Given the description of an element on the screen output the (x, y) to click on. 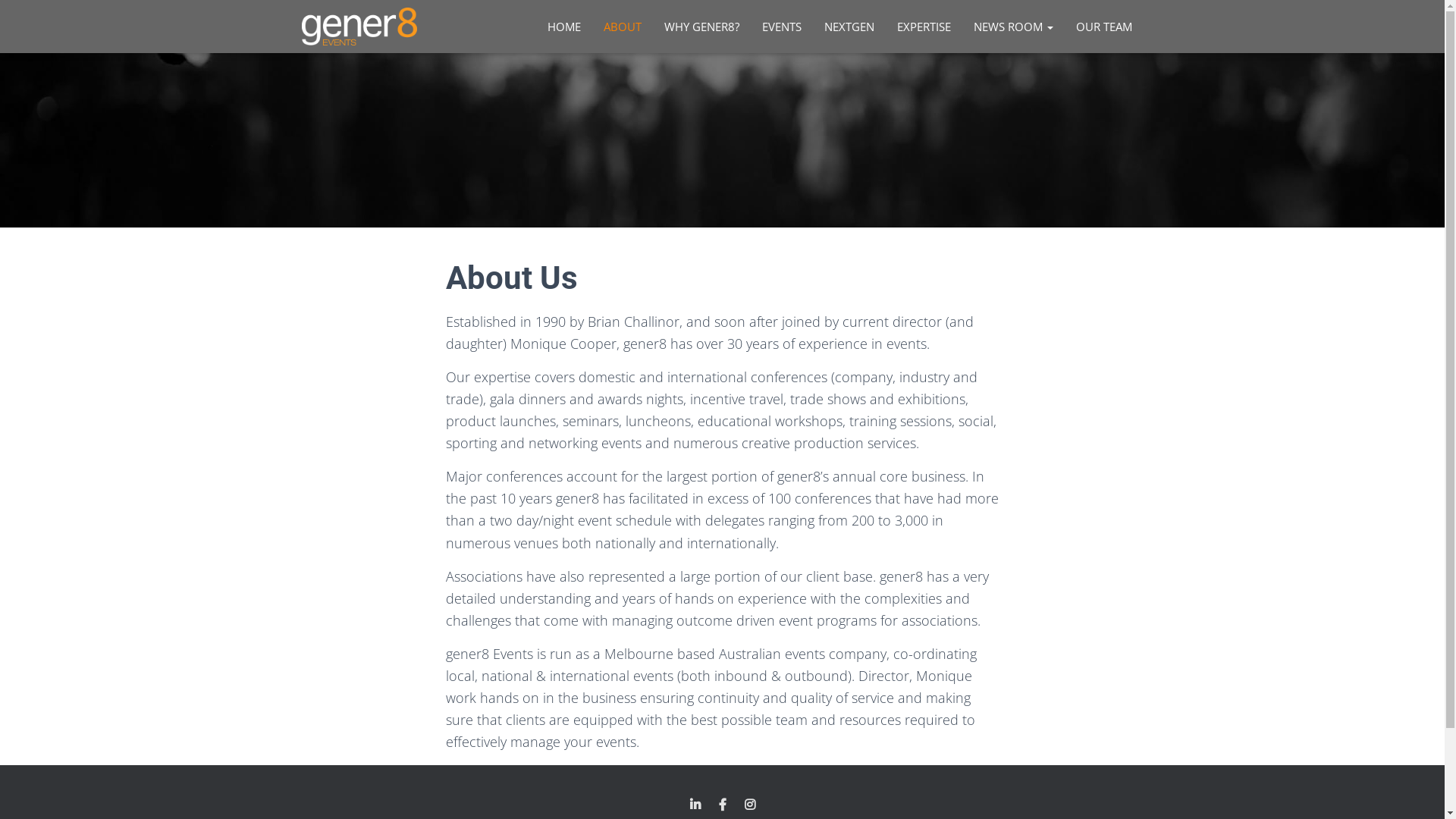
EXPERTISE Element type: text (923, 26)
HOME Element type: text (563, 26)
NEWS ROOM Element type: text (1012, 26)
OUR TEAM Element type: text (1103, 26)
ABOUT Element type: text (621, 26)
WHY GENER8? Element type: text (700, 26)
gener8 events Element type: hover (358, 26)
EVENTS Element type: text (781, 26)
NEXTGEN Element type: text (848, 26)
